Given the description of an element on the screen output the (x, y) to click on. 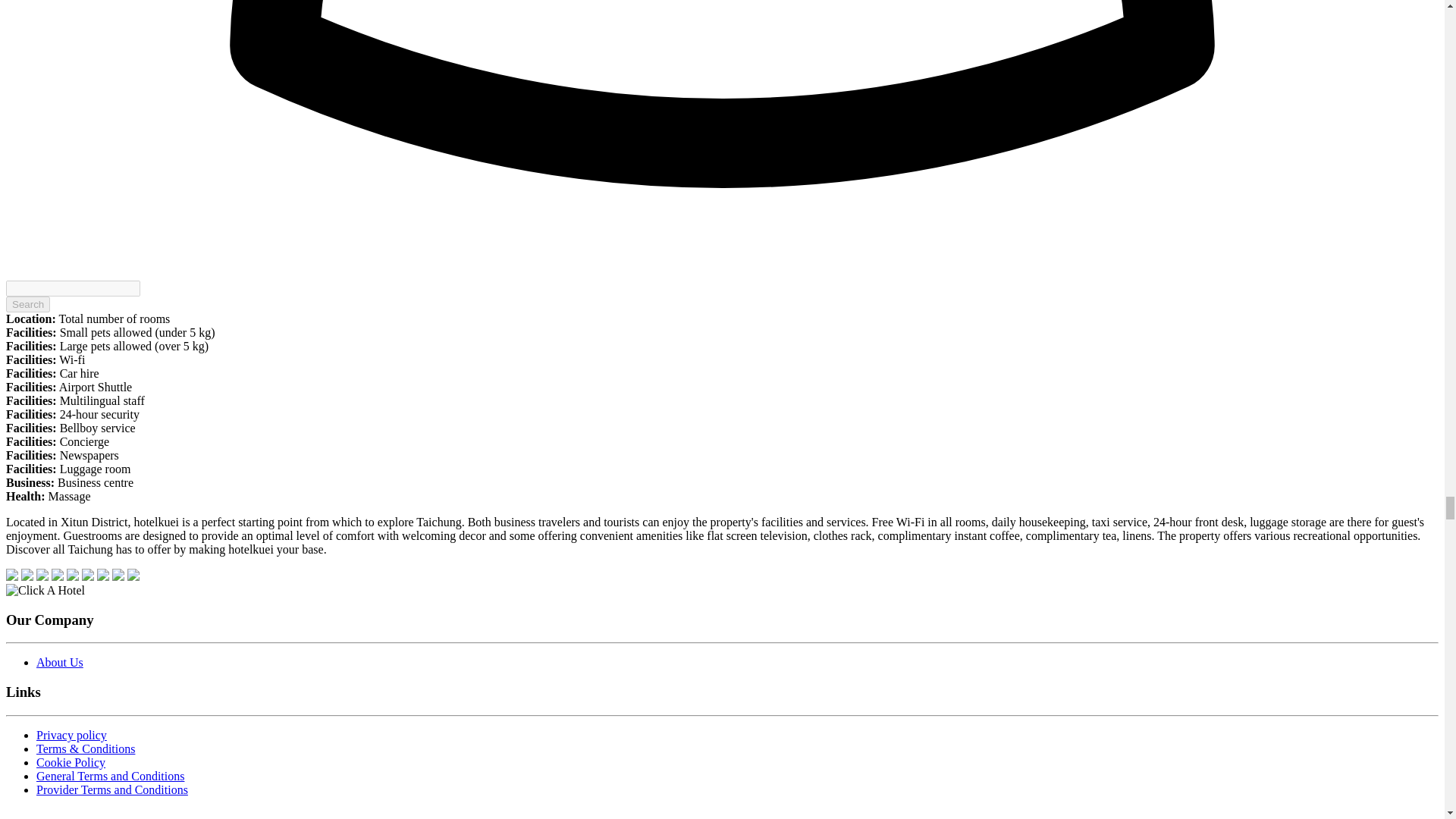
Privacy policy (71, 735)
Cookie Policy (70, 762)
Search (27, 304)
Provider Terms and Conditions (111, 789)
About Us (59, 662)
General Terms and Conditions (110, 775)
